Given the description of an element on the screen output the (x, y) to click on. 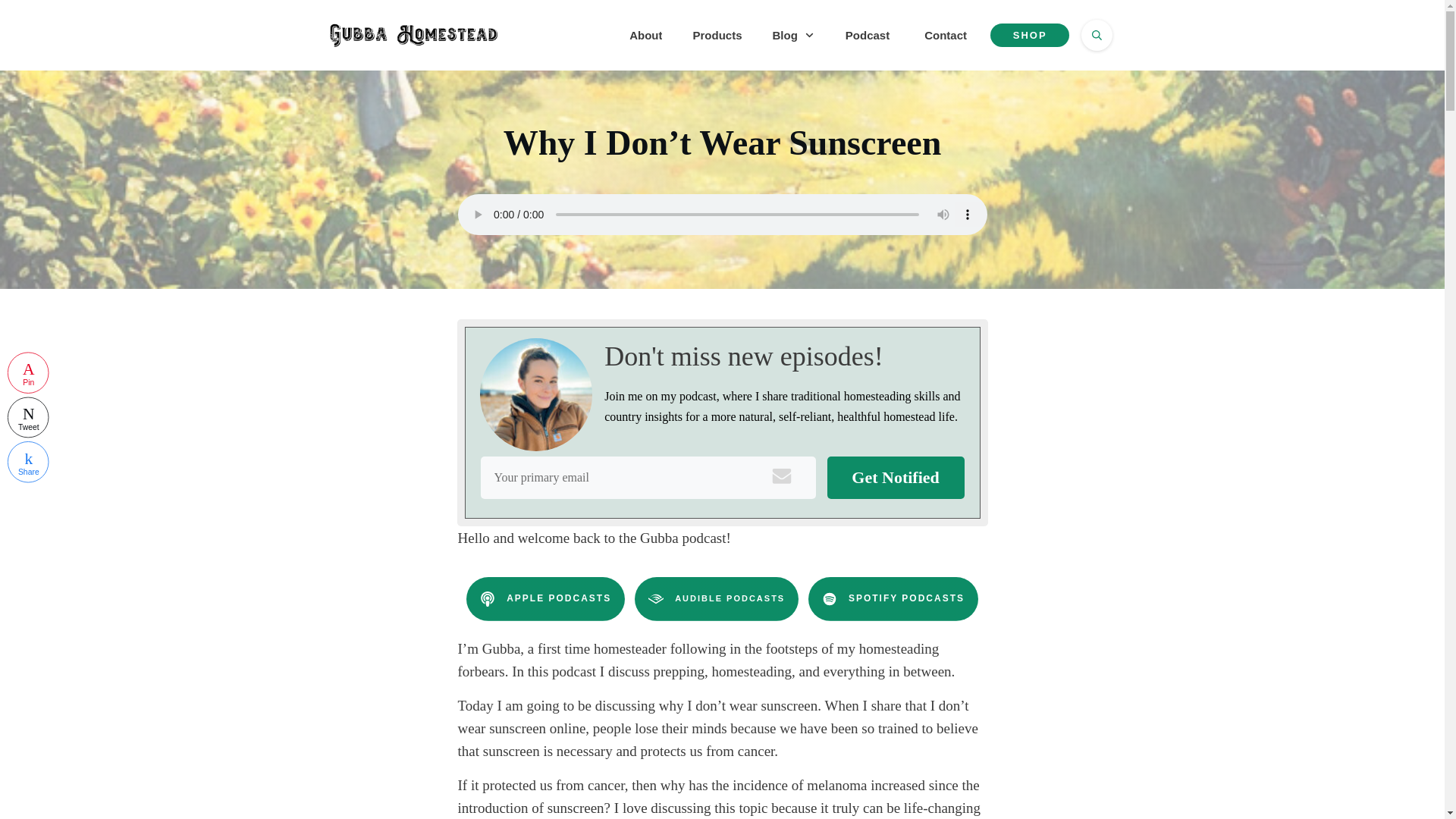
About (645, 35)
gubba-homestead-frontpage (535, 394)
SPOTIFY PODCASTS (893, 598)
Podcast (867, 35)
Contact (945, 35)
Blog (792, 35)
Get Notified (895, 477)
APPLE PODCASTS (544, 598)
SHOP (1029, 35)
AUDIBLE PODCASTS (715, 598)
Products (717, 35)
